Given the description of an element on the screen output the (x, y) to click on. 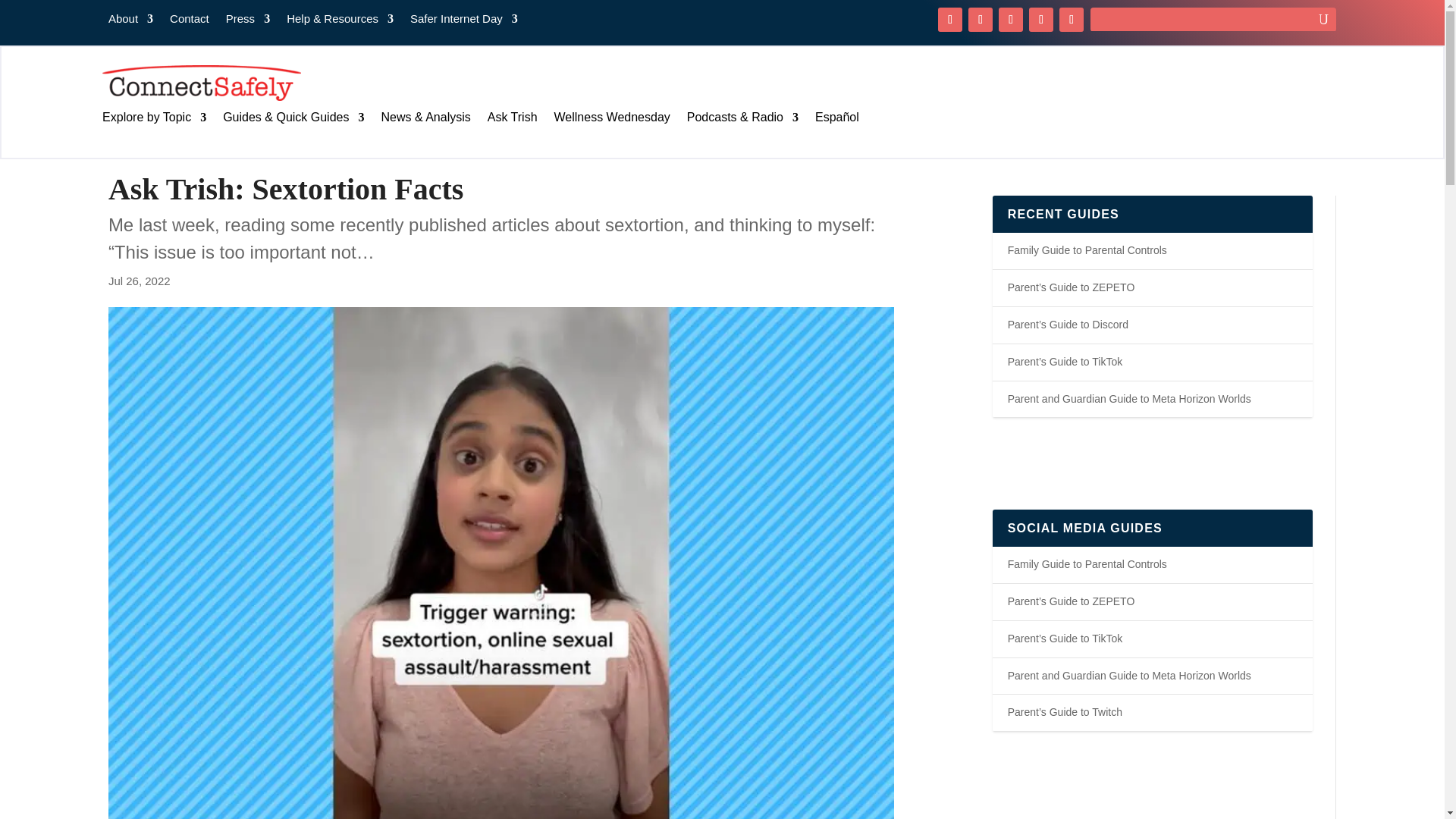
Follow on Instagram (1010, 19)
Follow on X (980, 19)
Contact (189, 21)
Follow on LinkedIn (1071, 19)
Safer Internet Day (464, 21)
Press (247, 21)
Follow on Facebook (949, 19)
Follow on Youtube (1040, 19)
About (129, 21)
